Given the description of an element on the screen output the (x, y) to click on. 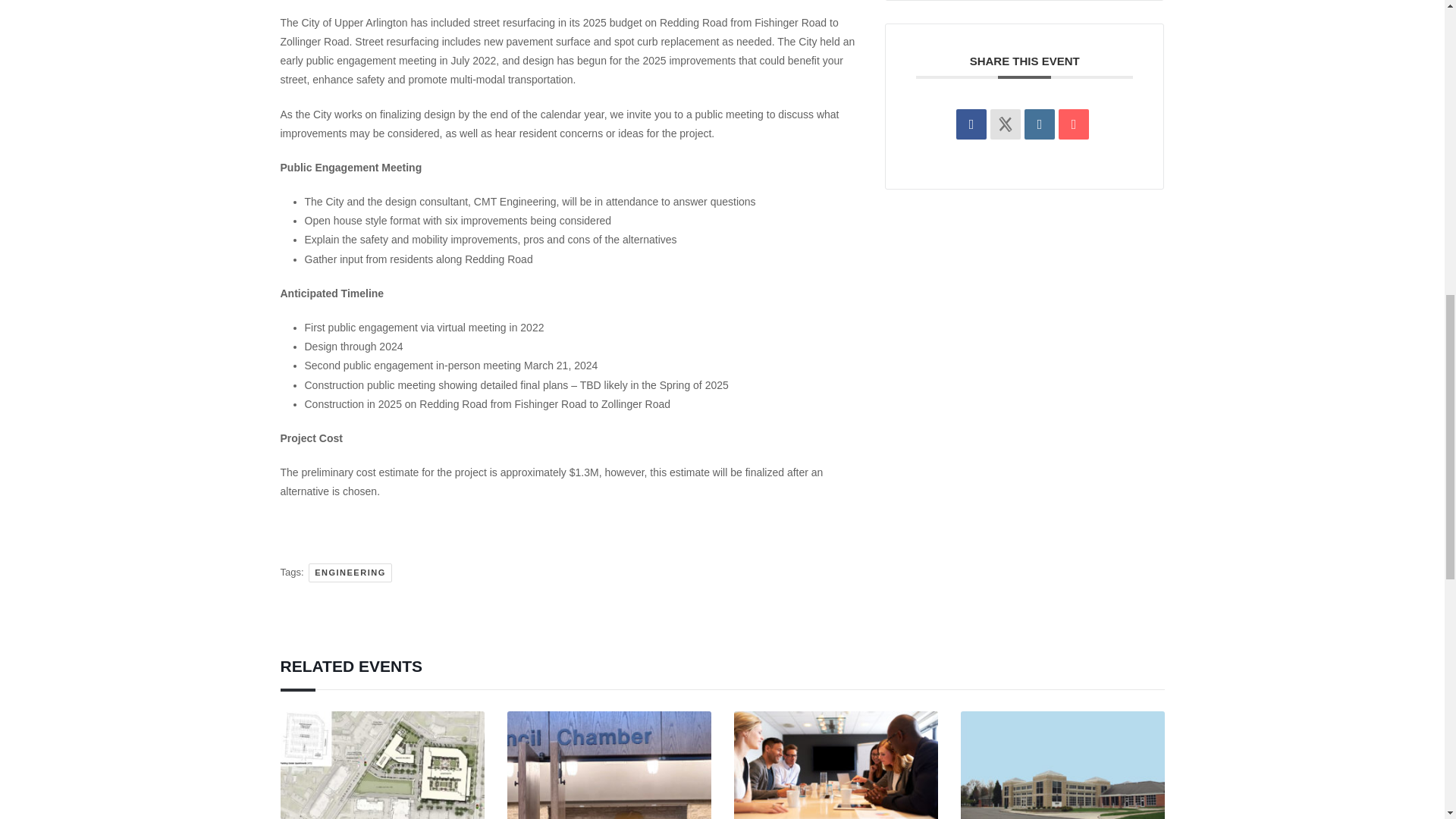
ENGINEERING (349, 573)
Share on Facebook (971, 123)
X Social Network (1005, 123)
Linkedin (1039, 123)
Email (1073, 123)
